Given the description of an element on the screen output the (x, y) to click on. 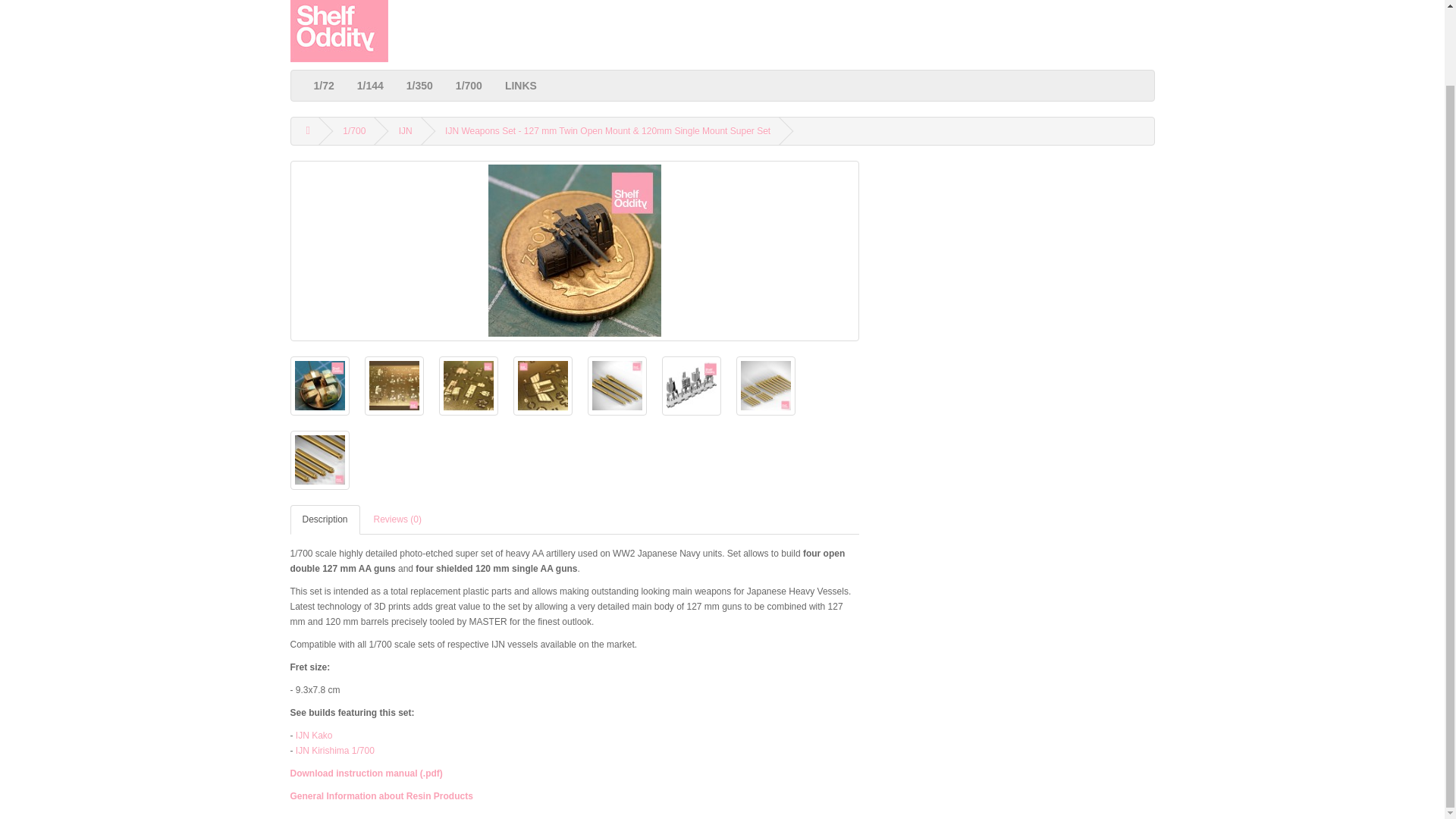
LINKS (520, 85)
IJN (405, 131)
Shelf Oddity (338, 31)
